Given the description of an element on the screen output the (x, y) to click on. 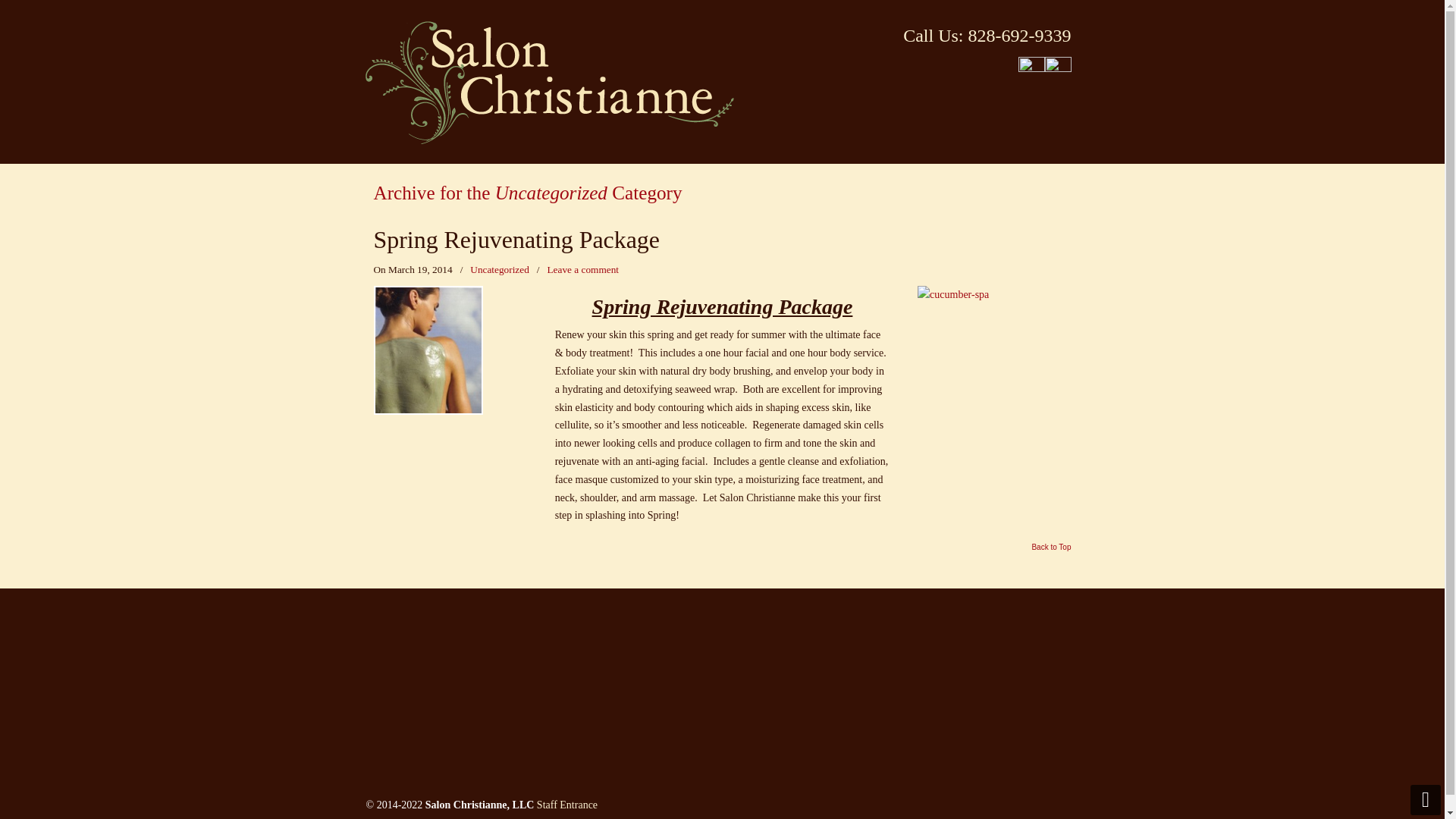
Salon Christianne (547, 82)
Staff Entrance (565, 804)
Spring Rejuvenating Package (515, 239)
Back to Top (1050, 550)
Stonehill Productions, Inc. (486, 818)
Spring Rejuvenating Package (515, 239)
Salon Christianne (547, 82)
Uncategorized (499, 270)
Top of Page (1050, 550)
Leave a comment (582, 270)
